Given the description of an element on the screen output the (x, y) to click on. 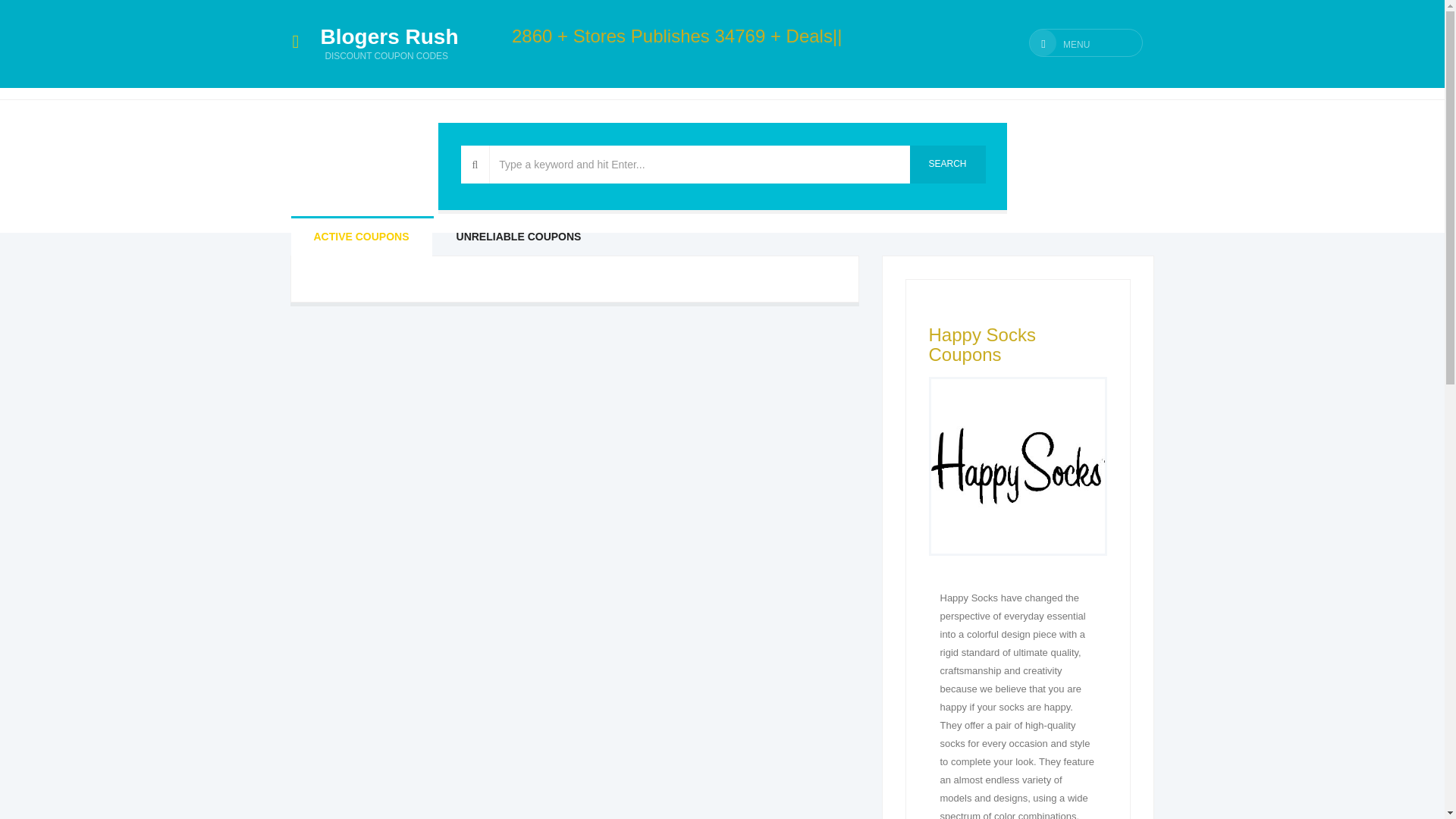
UNRELIABLE COUPONS (518, 237)
ACTIVE COUPONS (361, 237)
SEARCH (389, 30)
